Given the description of an element on the screen output the (x, y) to click on. 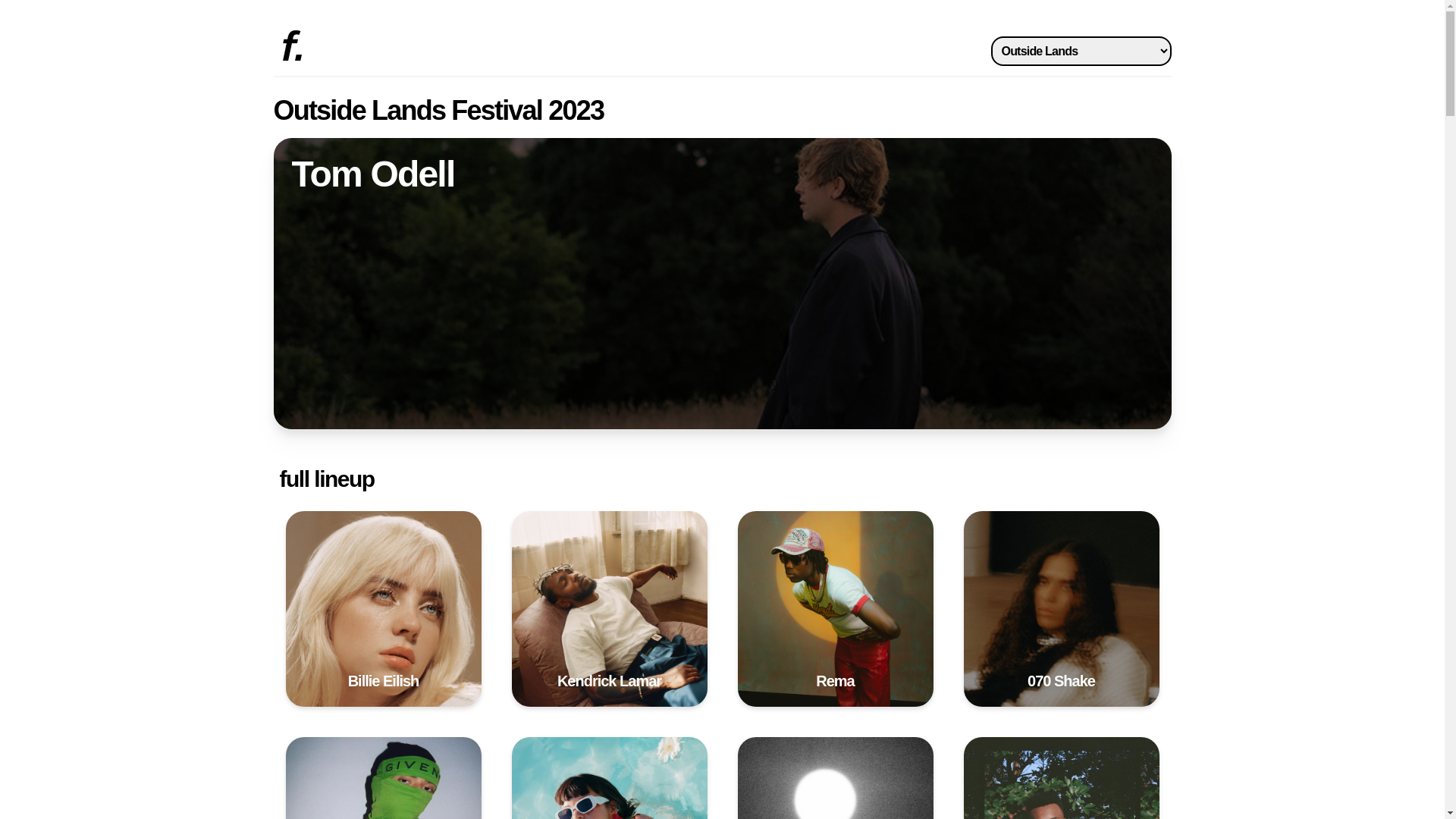
Kendrick Lamar Element type: text (608, 608)
Rema Element type: text (834, 608)
Billie Eilish Element type: text (382, 608)
070 Shake Element type: text (1060, 608)
